Given the description of an element on the screen output the (x, y) to click on. 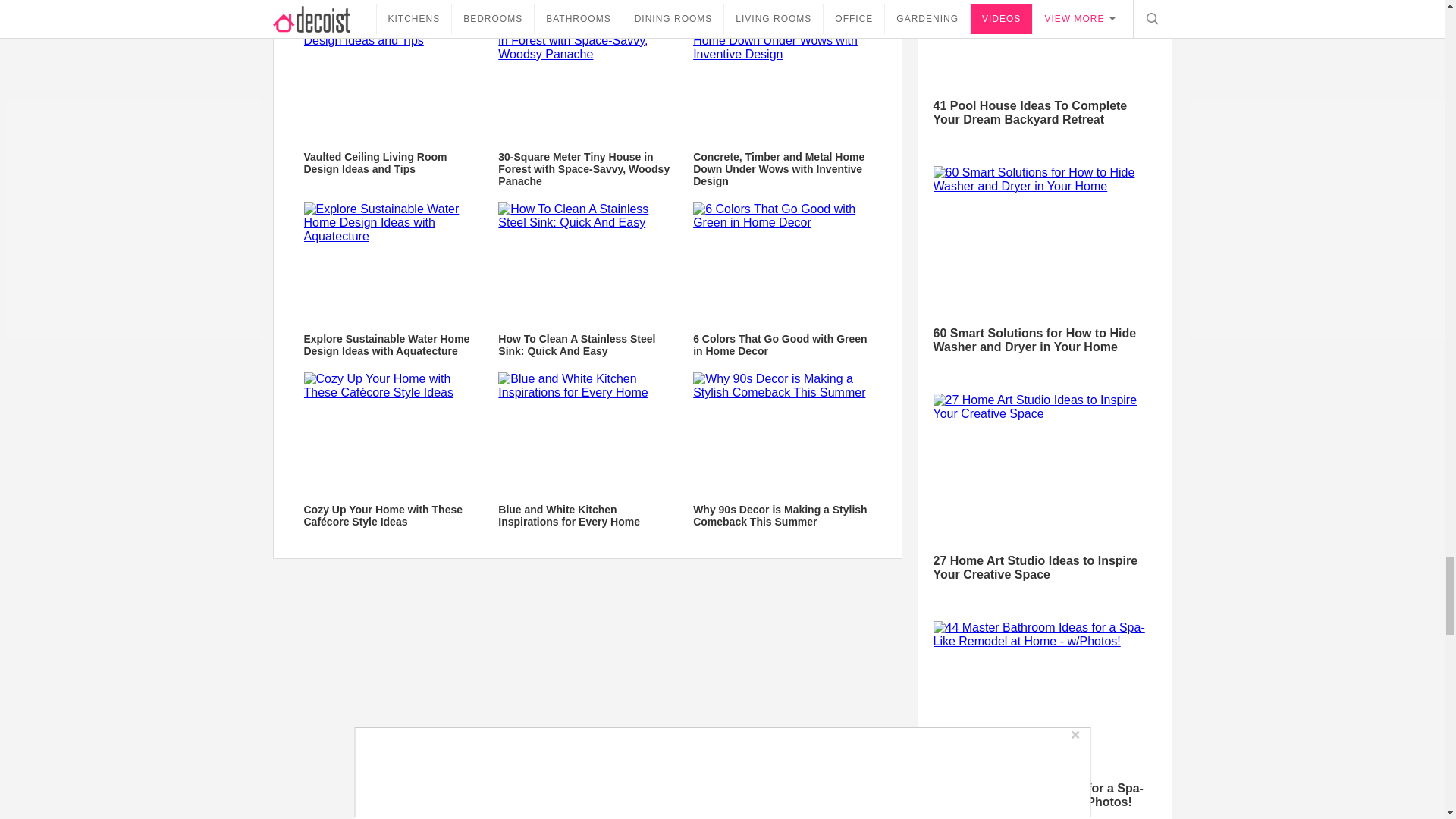
6 Colors That Go Good with Green in Home Decor (781, 261)
Blue and White Kitchen Inspirations for Every Home (586, 431)
How To Clean A Stainless Steel Sink: Quick And Easy (586, 279)
Explore Sustainable Water Home Design Ideas with Aquatecture (391, 279)
Vaulted Ceiling Living Room Design Ideas and Tips (391, 79)
Explore Sustainable Water Home Design Ideas with Aquatecture (391, 261)
Vaulted Ceiling Living Room Design Ideas and Tips (391, 97)
How To Clean A Stainless Steel Sink: Quick And Easy (586, 261)
6 Colors That Go Good with Green in Home Decor (781, 279)
